Given the description of an element on the screen output the (x, y) to click on. 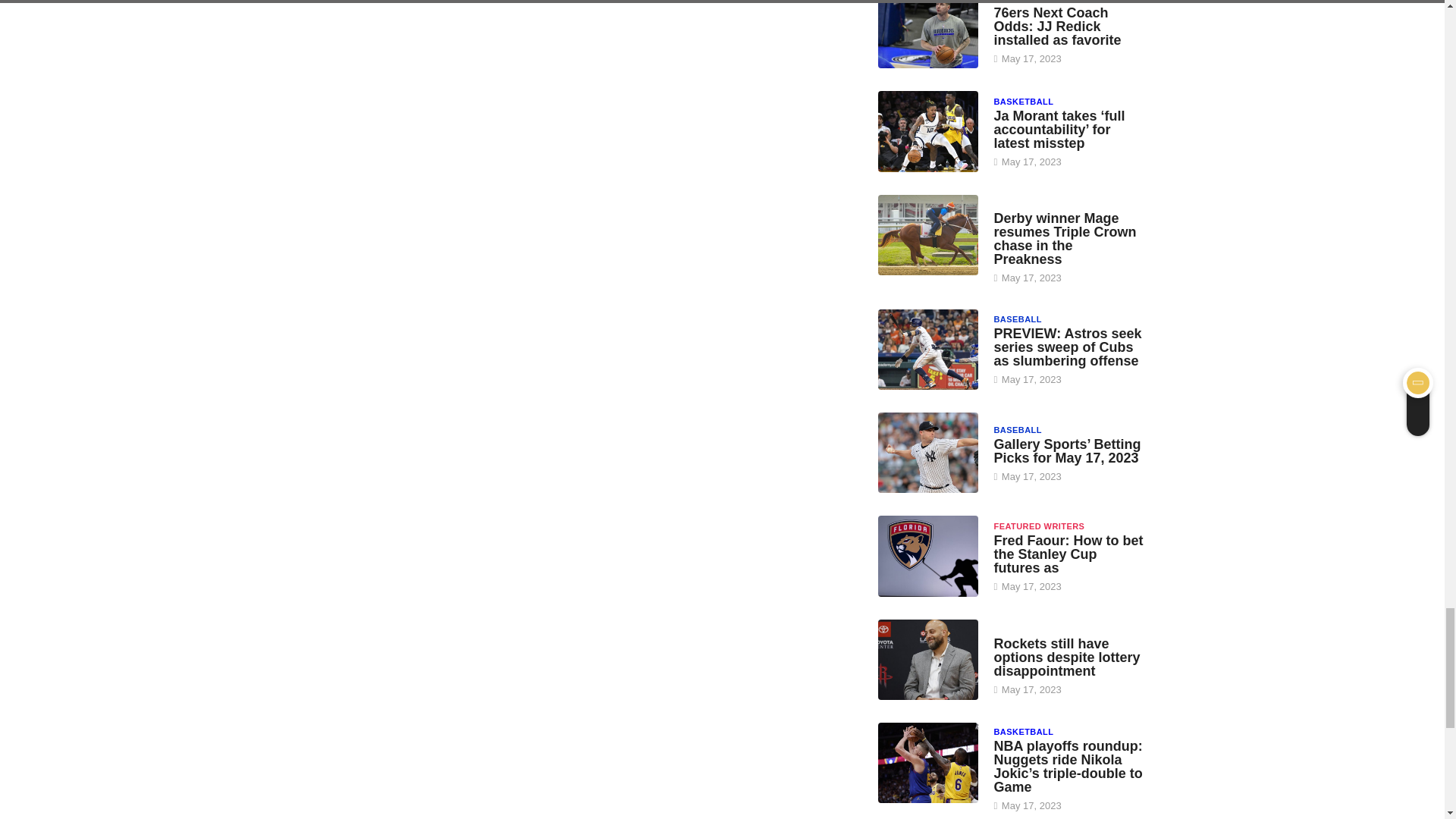
76ers Next Coach Odds: JJ Redick installed as favorite (1056, 25)
76ers Next Coach Odds: JJ Redick installed as favorite (927, 33)
